Given the description of an element on the screen output the (x, y) to click on. 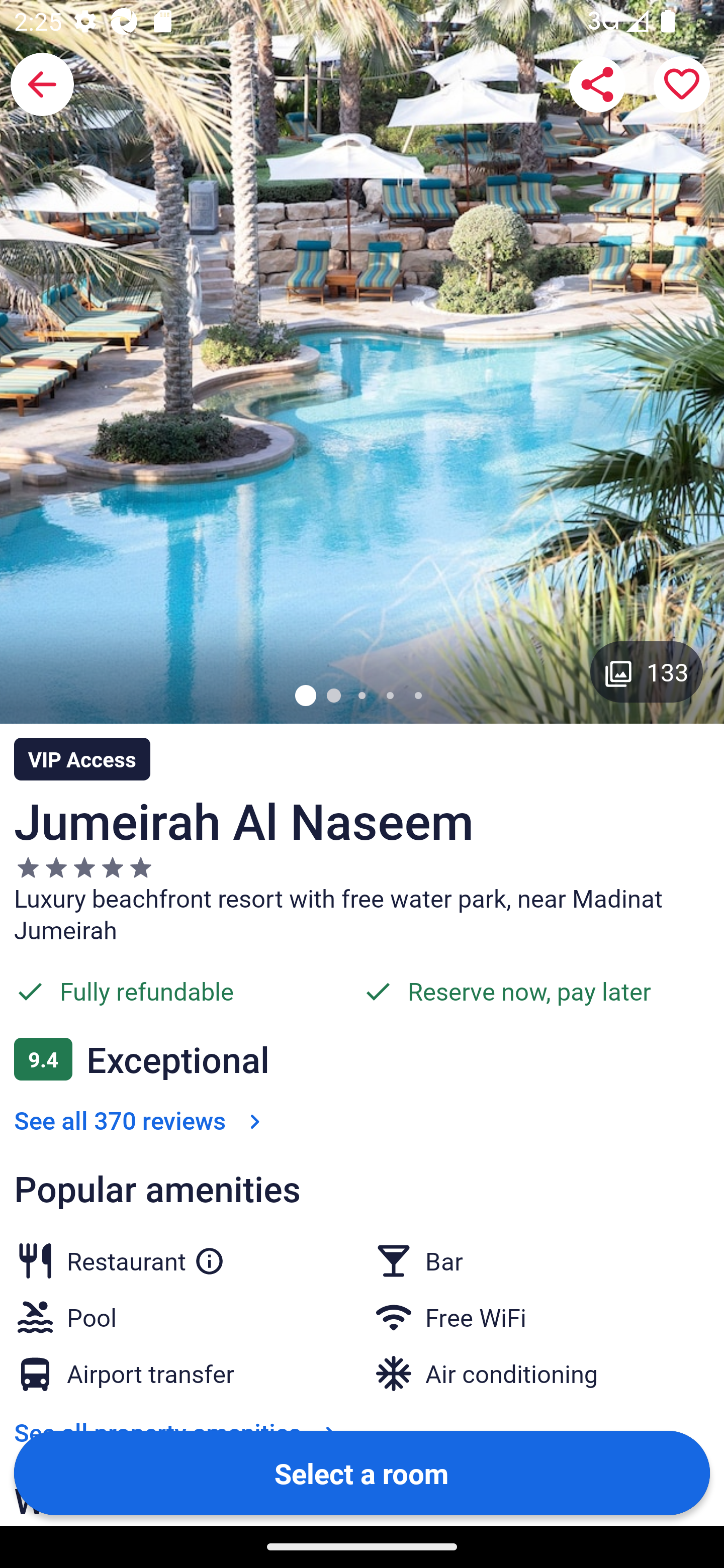
Back (42, 84)
Save property to a trip (681, 84)
Share Jumeirah Al Naseem (597, 84)
Gallery button with 133 images (646, 671)
See all 370 reviews See all 370 reviews Link (140, 1119)
Restaurant (145, 1257)
Select a room Button Select a room (361, 1472)
